Given the description of an element on the screen output the (x, y) to click on. 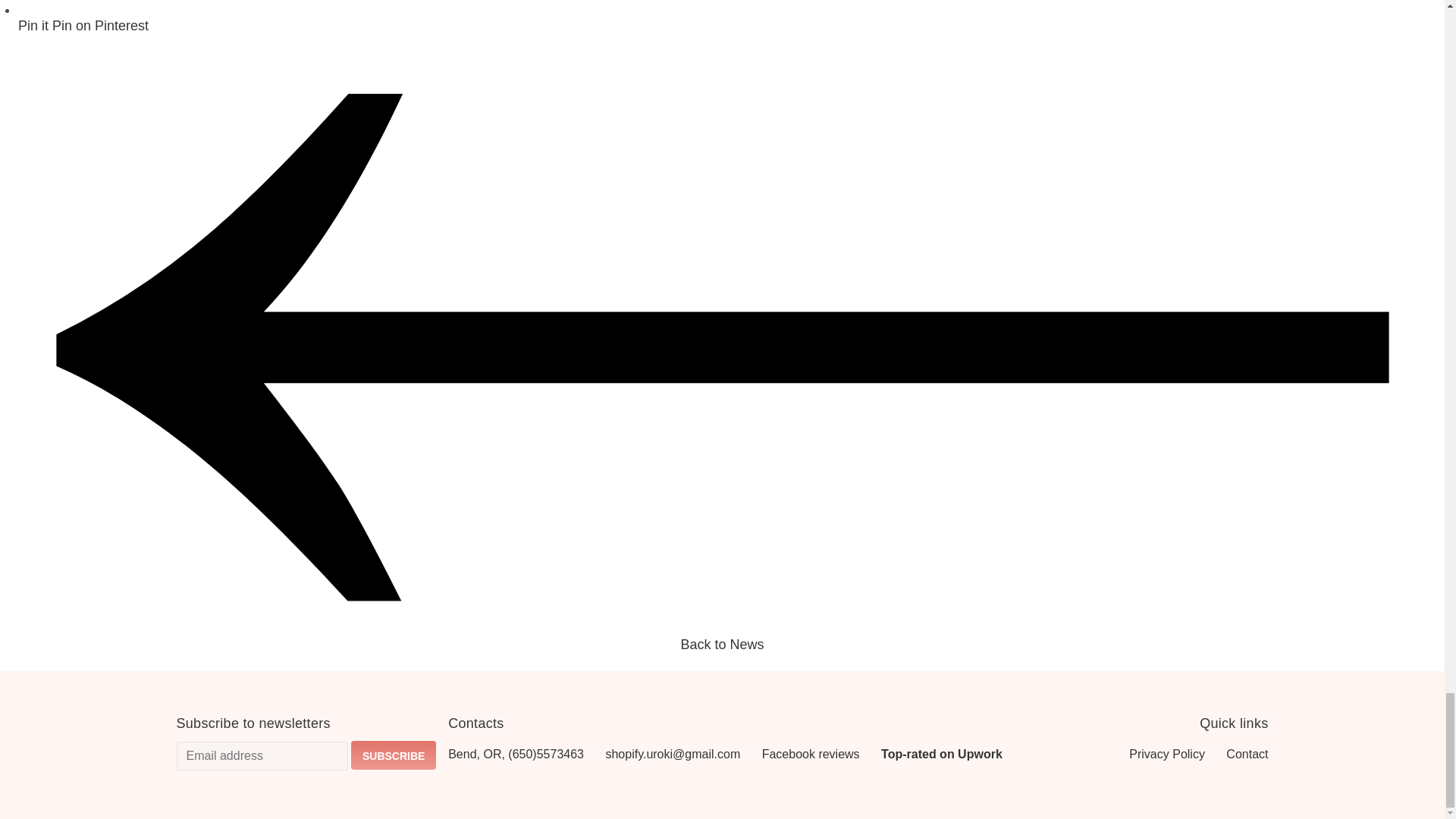
Privacy Policy (1157, 753)
Contact (1238, 753)
Facebook reviews (819, 753)
SUBSCRIBE (392, 755)
Top-rated on Upwork (950, 753)
